Given the description of an element on the screen output the (x, y) to click on. 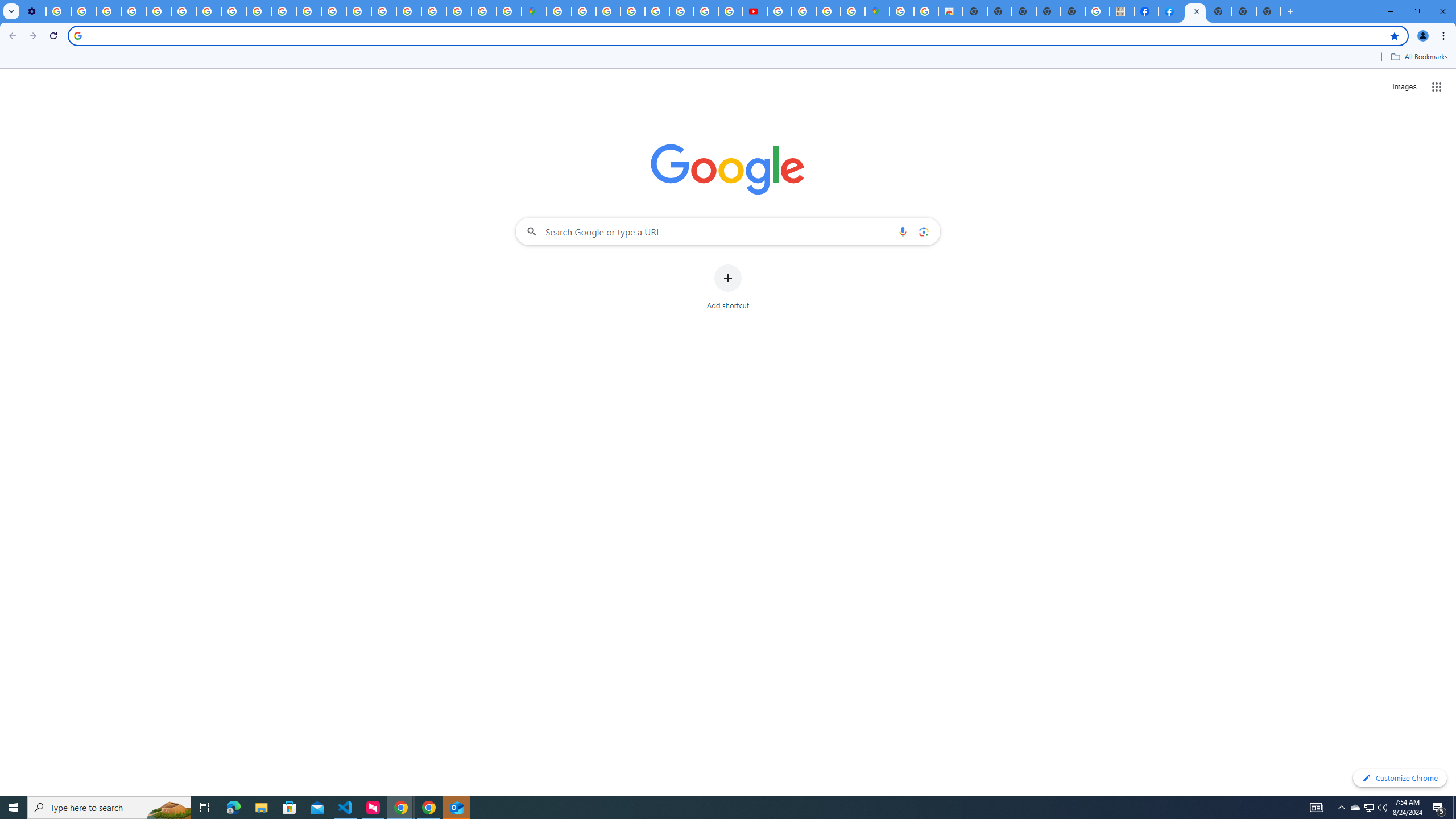
Privacy Help Center - Policies Help (158, 11)
Settings - Customize profile (33, 11)
How Chrome protects your passwords - Google Chrome Help (778, 11)
Search for Images  (1403, 87)
Delete photos & videos - Computer - Google Photos Help (57, 11)
Search by voice (902, 230)
